Given the description of an element on the screen output the (x, y) to click on. 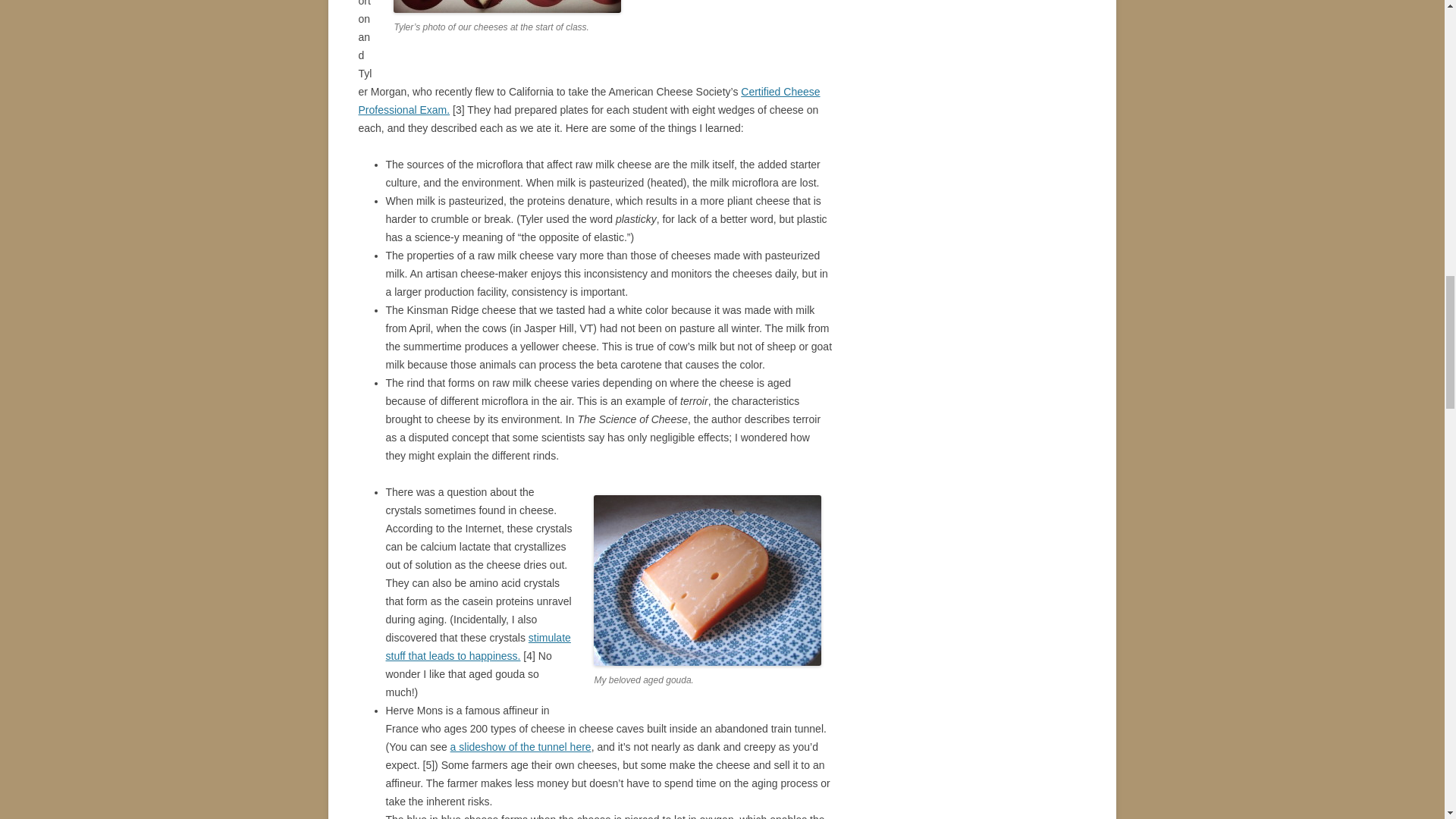
aged cheese and happiness (477, 646)
a slideshow of the tunnel here (520, 746)
ACS CCP exam (588, 100)
stimulate stuff that leads to happiness. (477, 646)
herve mons tunnel (520, 746)
Certified Cheese Professional Exam. (588, 100)
